Given the description of an element on the screen output the (x, y) to click on. 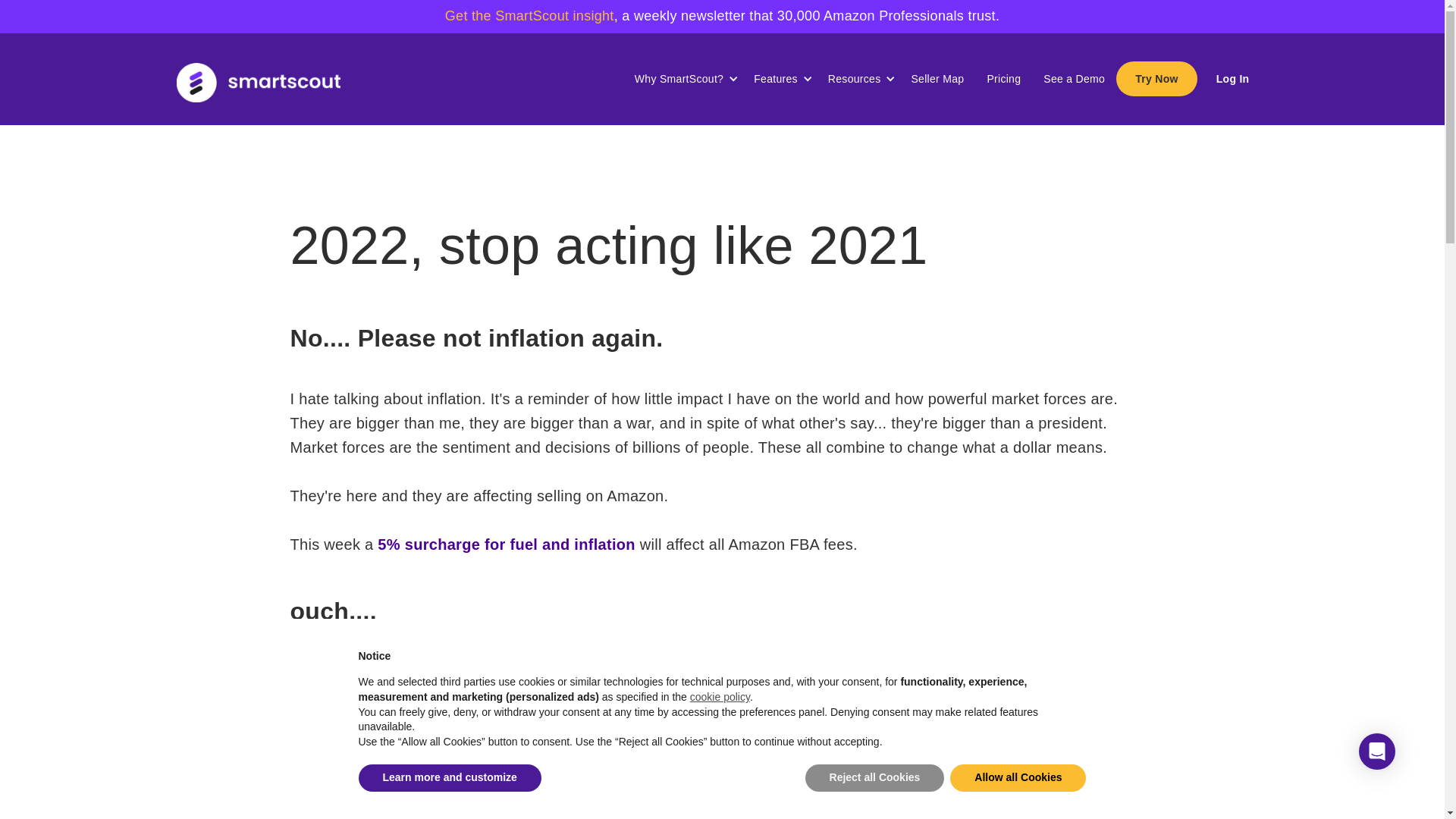
See a Demo (1074, 79)
Seller Map (937, 79)
Try Now (1156, 78)
Log In (1232, 78)
Pricing (1003, 79)
